Given the description of an element on the screen output the (x, y) to click on. 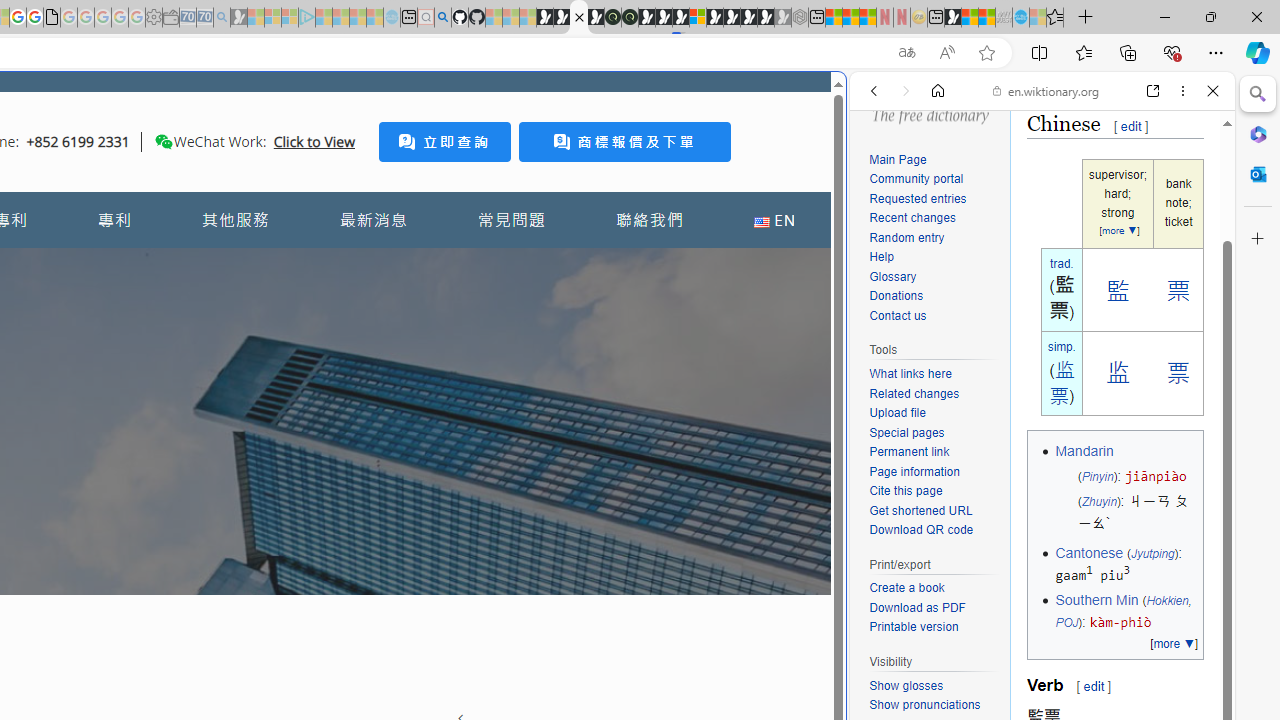
Permanent link (934, 452)
Class: b_serphb (1190, 229)
POJ (1066, 623)
Sign in to your account (697, 17)
Close split screen (844, 102)
Glossary (892, 276)
Home | Sky Blue Bikes - Sky Blue Bikes - Sleeping (392, 17)
Download QR code (921, 529)
